Given the description of an element on the screen output the (x, y) to click on. 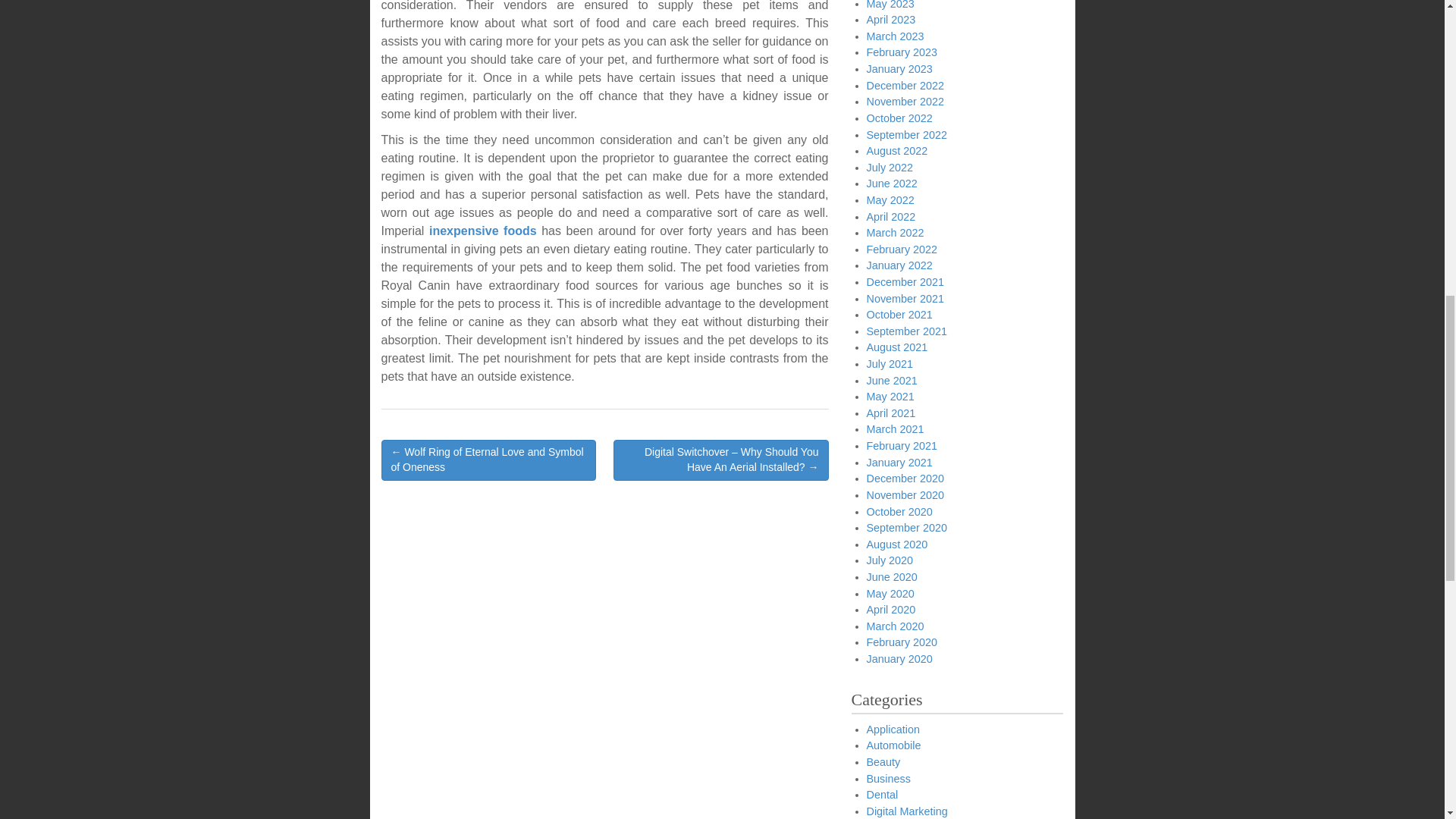
January 2023 (898, 69)
March 2023 (894, 36)
February 2023 (901, 51)
April 2023 (890, 19)
inexpensive foods (483, 230)
May 2023 (890, 4)
December 2022 (904, 85)
